Given the description of an element on the screen output the (x, y) to click on. 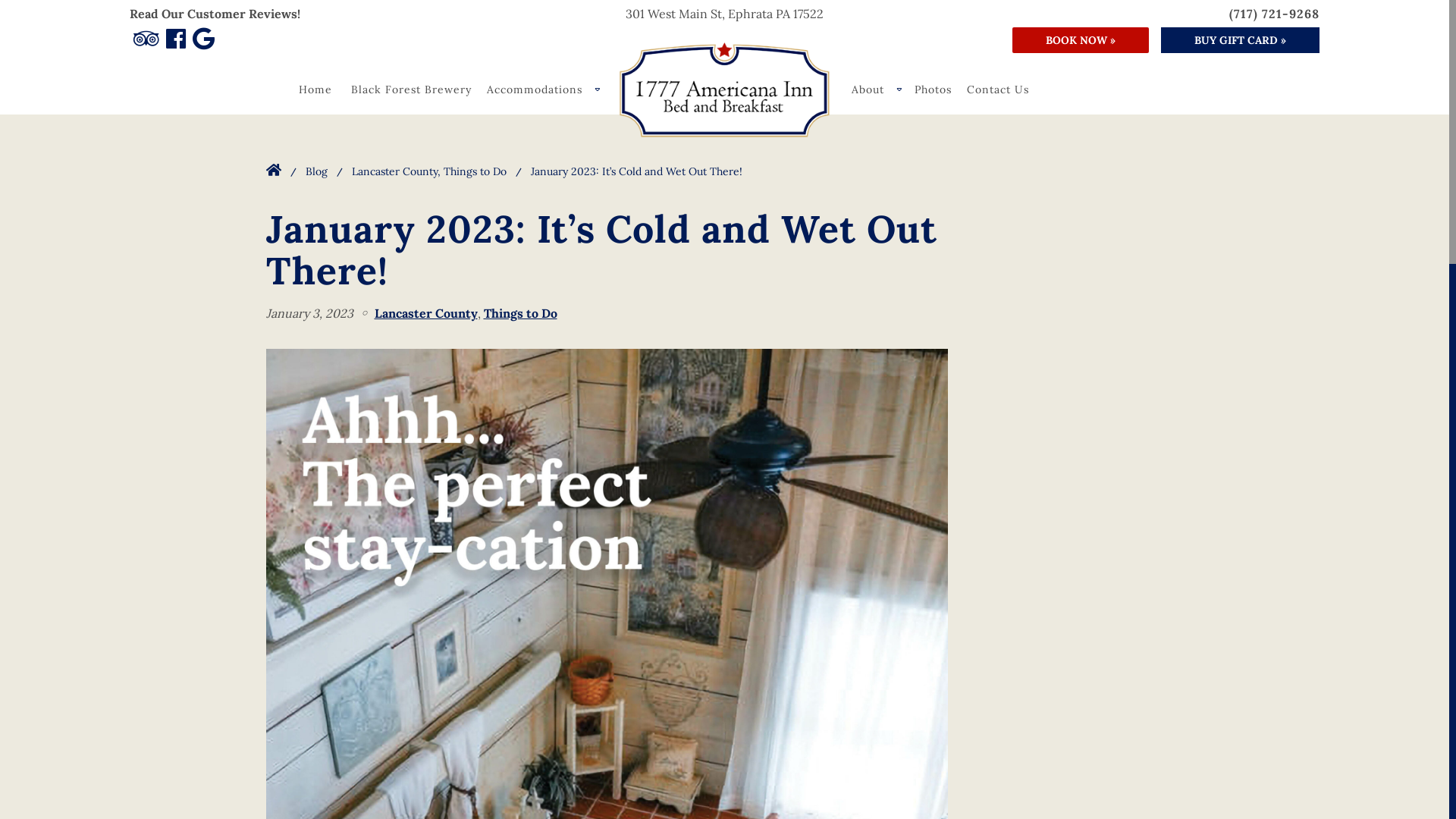
About Element type: text (875, 89)
Accommodations Element type: text (542, 89)
(717) 721-9268 Element type: text (1274, 13)
Read Our Customer Reviews! Element type: text (213, 13)
1777 Americana Inn Bed & Breakfast Element type: hover (723, 88)
Lancaster County Element type: text (394, 171)
Photos Element type: text (932, 89)
Home Element type: text (315, 89)
Contact Us Element type: text (997, 89)
Blog Element type: text (315, 171)
Things to Do Element type: text (473, 171)
Things to Do Element type: text (520, 313)
Lancaster County Element type: text (425, 313)
Black Forest Brewery Element type: text (411, 89)
